Given the description of an element on the screen output the (x, y) to click on. 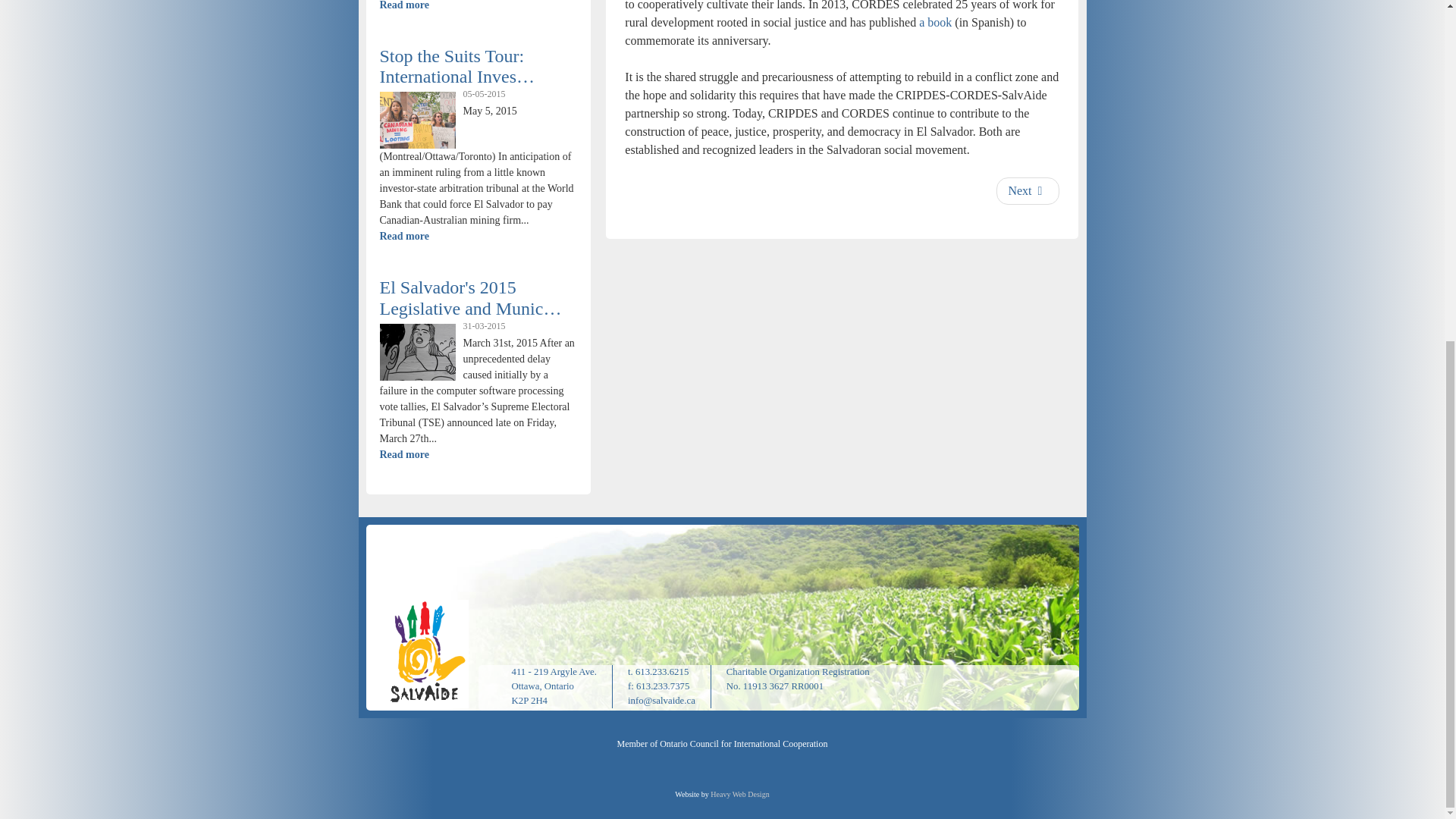
CORDES book (935, 21)
go to OCIC (722, 743)
